Given the description of an element on the screen output the (x, y) to click on. 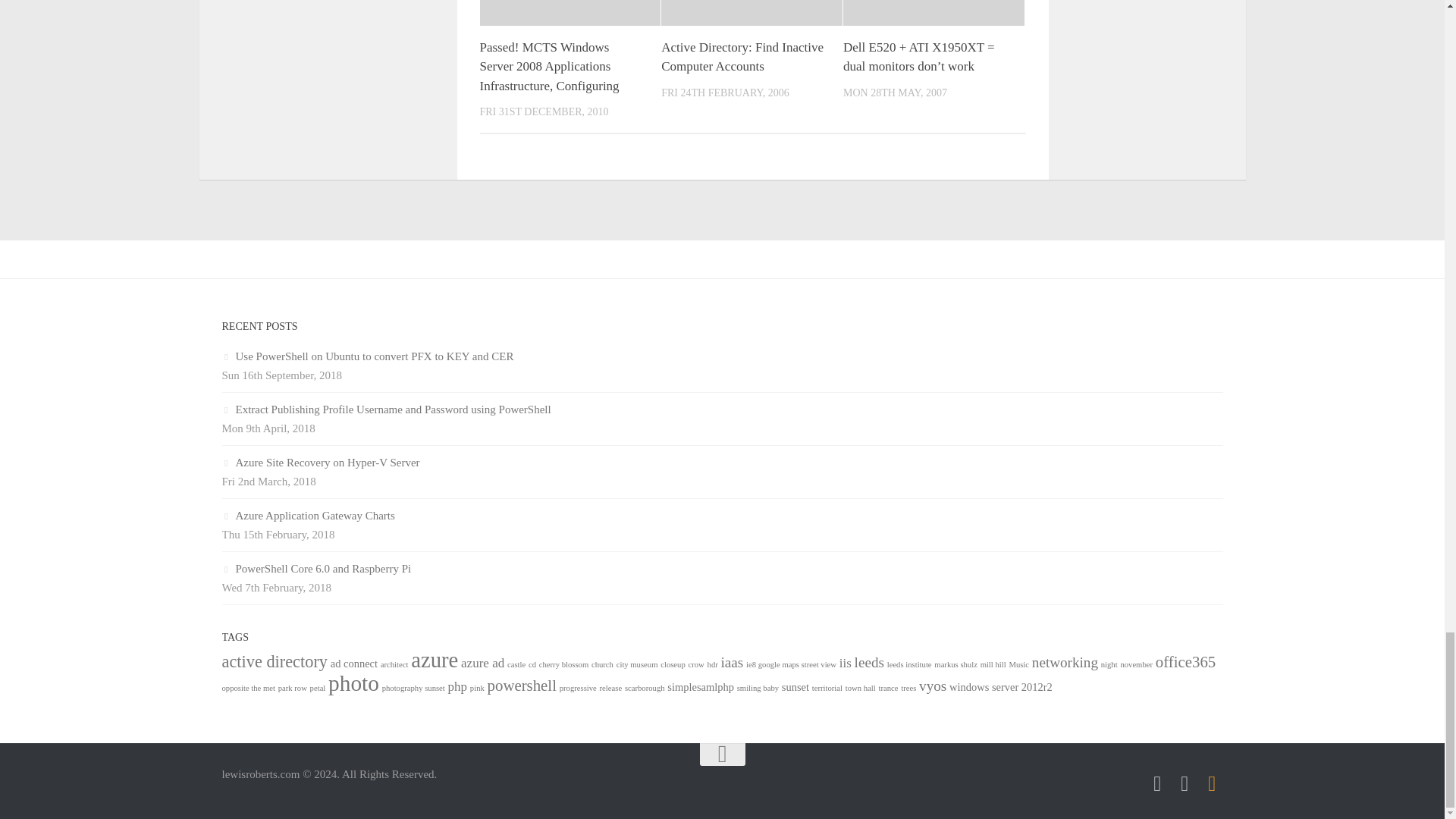
Active Directory: Find Inactive Computer Accounts (742, 57)
